Given the description of an element on the screen output the (x, y) to click on. 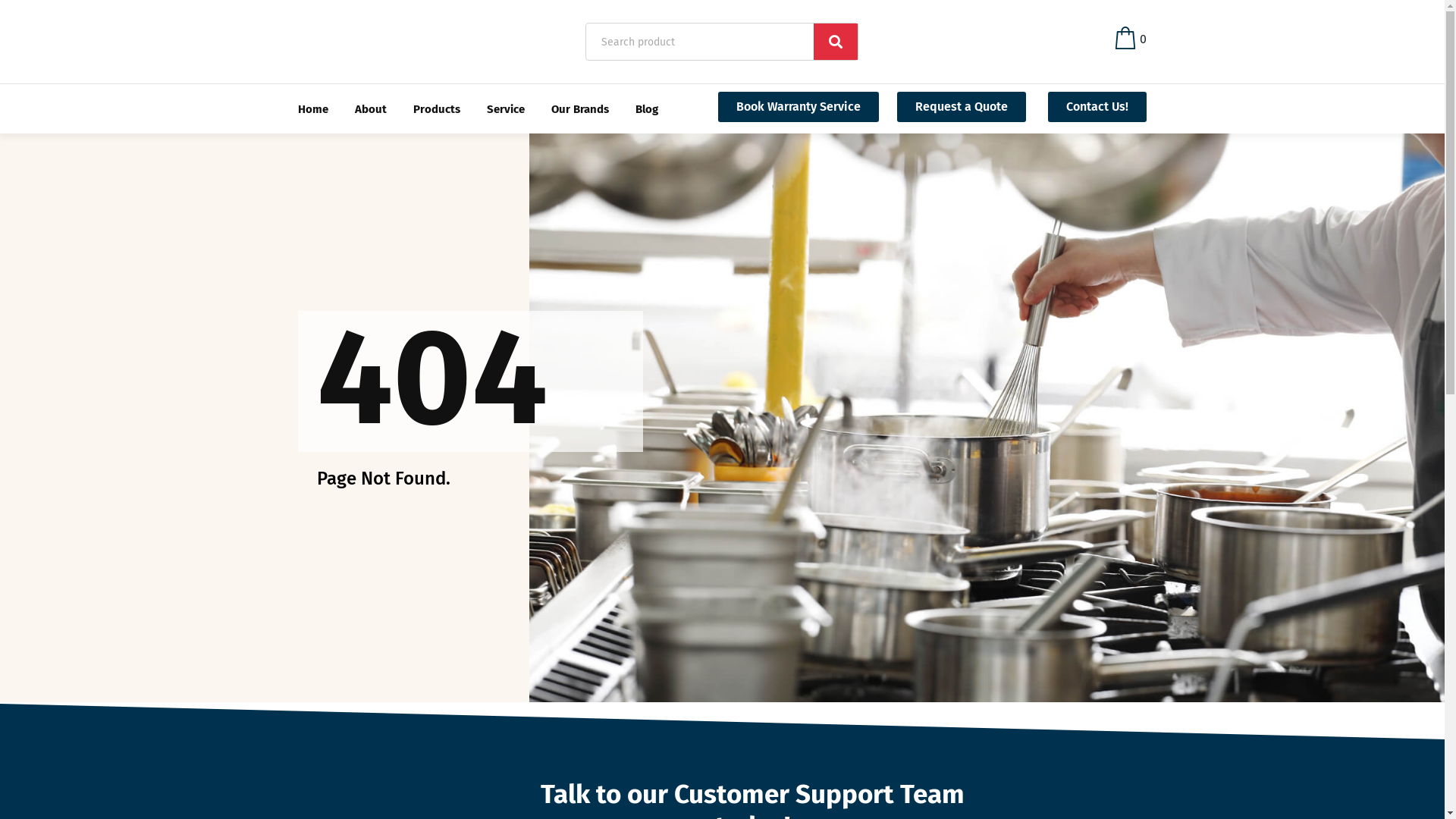
Home Element type: text (312, 108)
Products Element type: text (435, 108)
Service Element type: text (505, 108)
Contact Us! Element type: text (1097, 106)
Request a Quote Element type: text (961, 106)
About Element type: text (370, 108)
Book Warranty Service Element type: text (798, 106)
0 Element type: text (1130, 39)
Blog Element type: text (646, 108)
Our Brands Element type: text (578, 108)
